Given the description of an element on the screen output the (x, y) to click on. 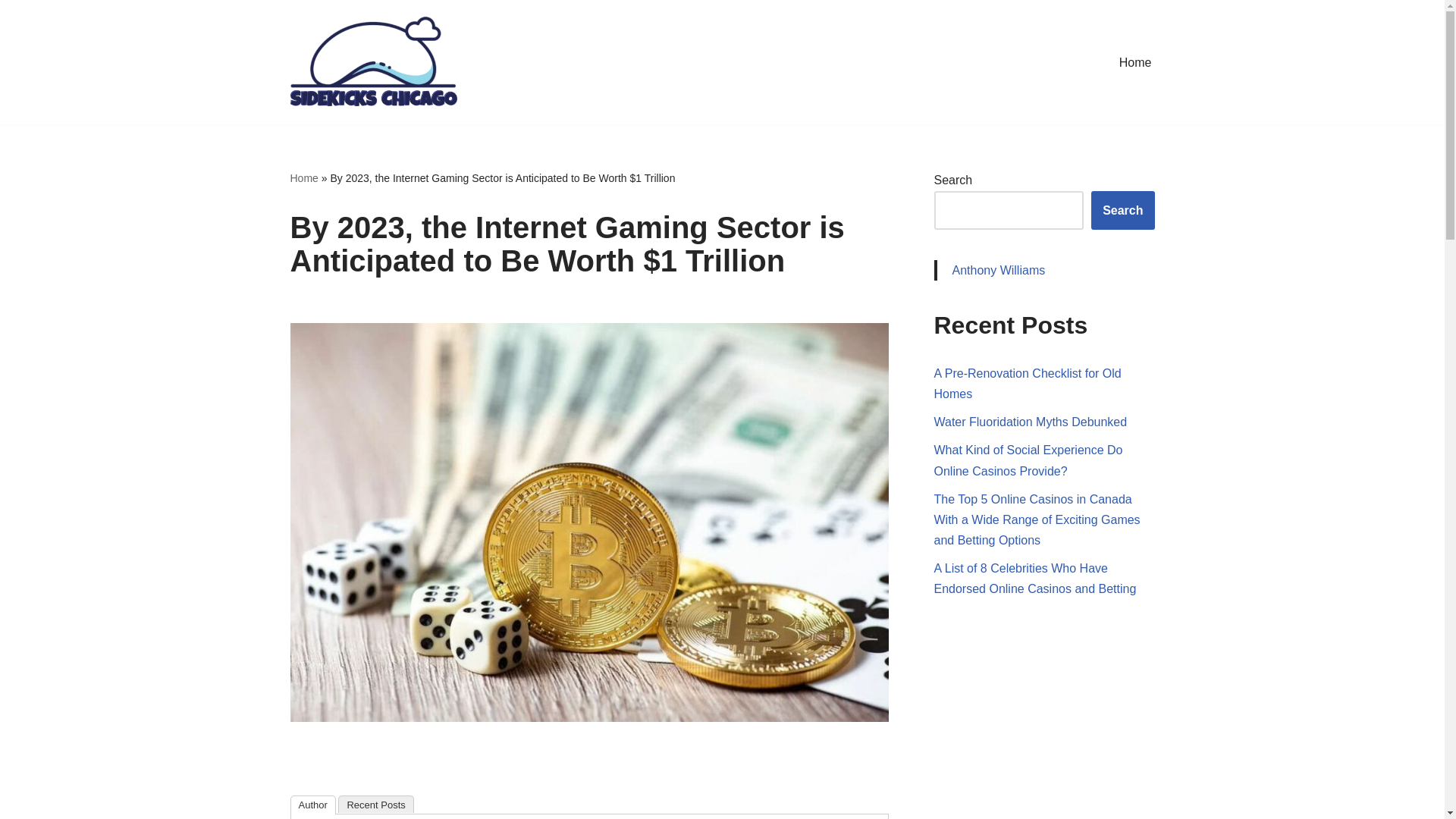
Recent Posts (375, 804)
What Kind of Social Experience Do Online Casinos Provide? (1028, 459)
Home (303, 177)
Author (311, 804)
A Pre-Renovation Checklist for Old Homes (1027, 383)
Skip to content (11, 31)
Anthony Williams (998, 269)
Search (1122, 210)
